Given the description of an element on the screen output the (x, y) to click on. 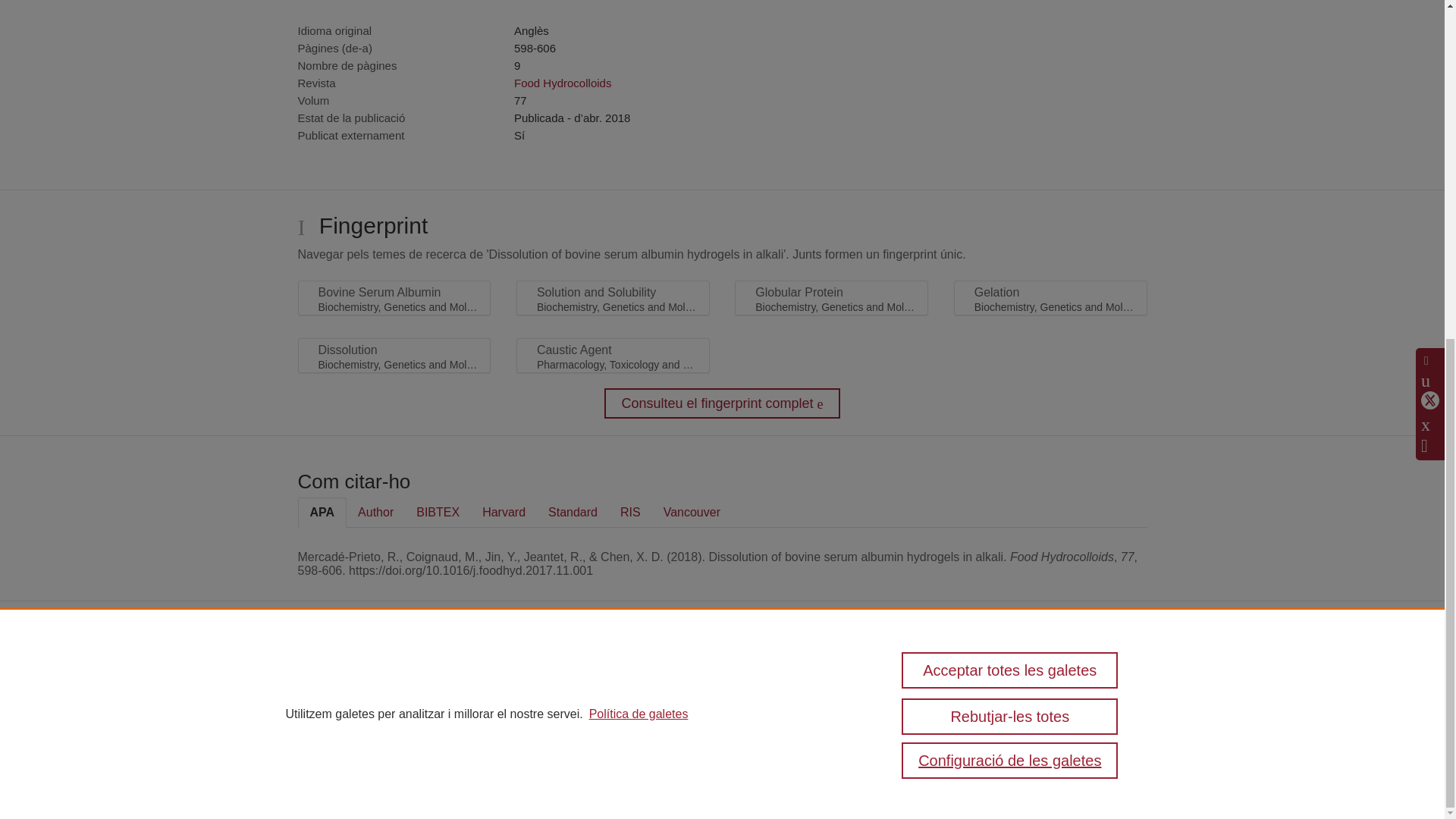
Food Hydrocolloids (562, 82)
Consulteu el fingerprint complet (722, 403)
Elsevier B.V. (534, 696)
Quant a l'accessibilitat web (979, 708)
Pure (365, 676)
Scopus (396, 676)
